Given the description of an element on the screen output the (x, y) to click on. 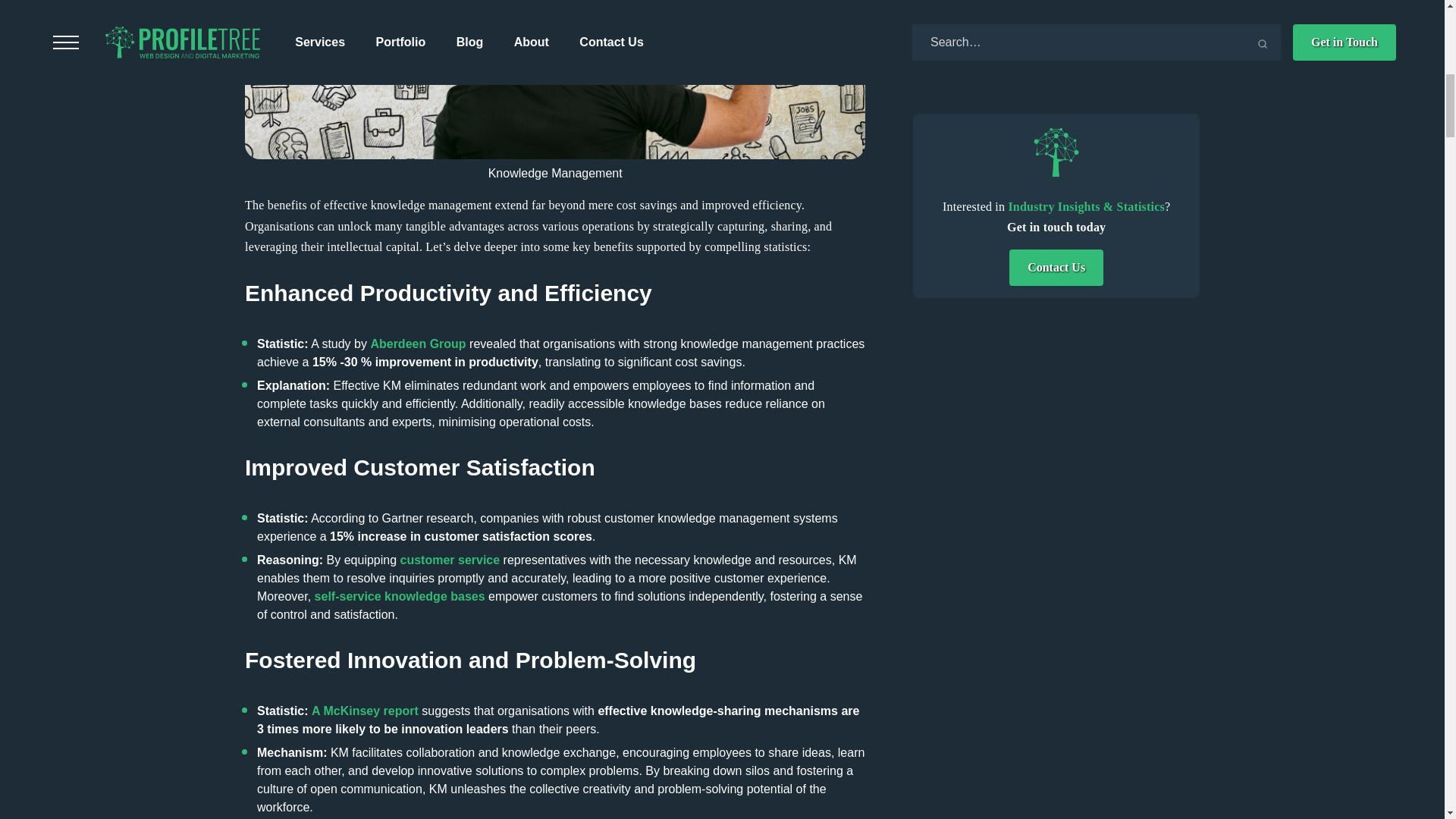
A McKinsey report (365, 710)
Aberdeen Group (417, 343)
customer service (450, 559)
self-service knowledge bases (399, 595)
